Given the description of an element on the screen output the (x, y) to click on. 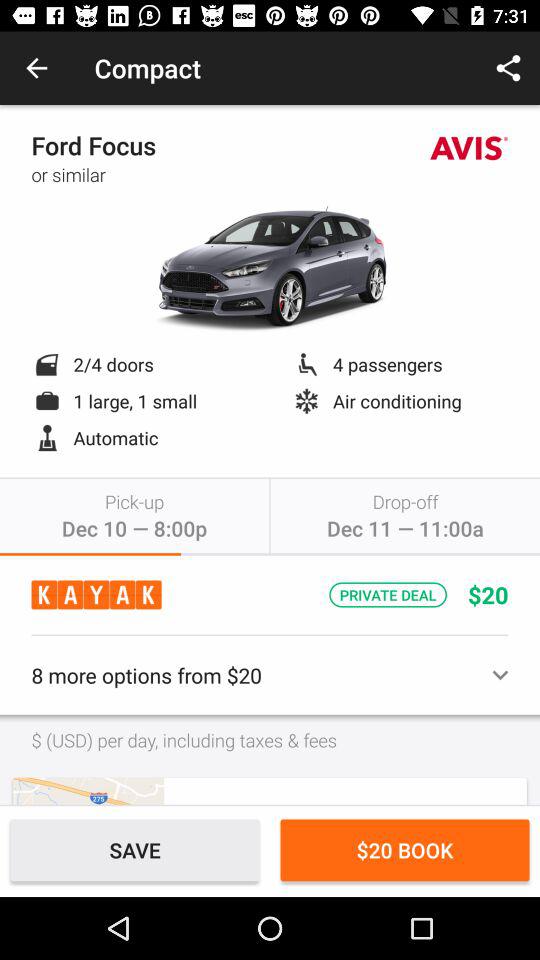
click 8 more options item (270, 675)
